Given the description of an element on the screen output the (x, y) to click on. 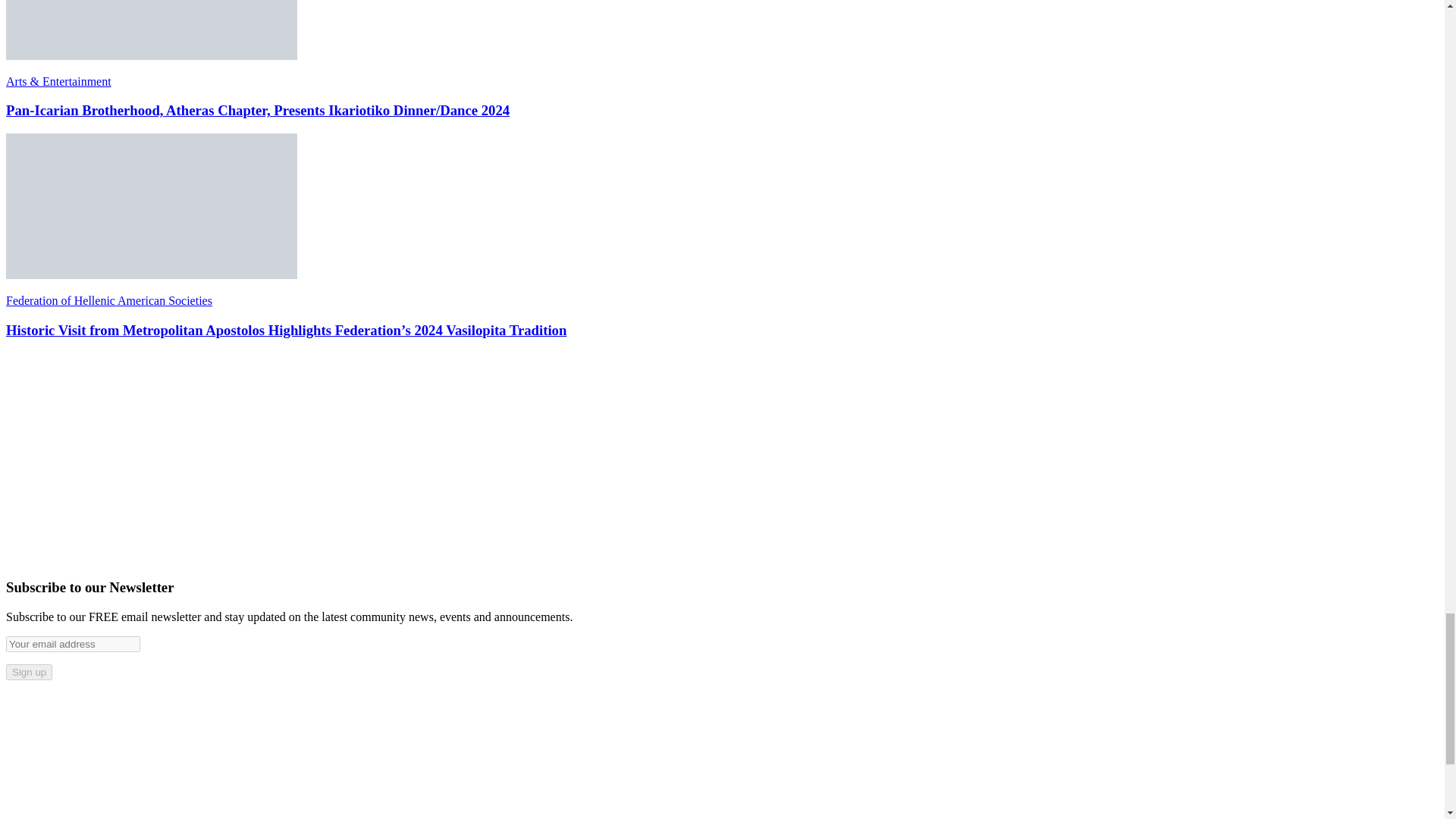
Sign up (28, 672)
